Given the description of an element on the screen output the (x, y) to click on. 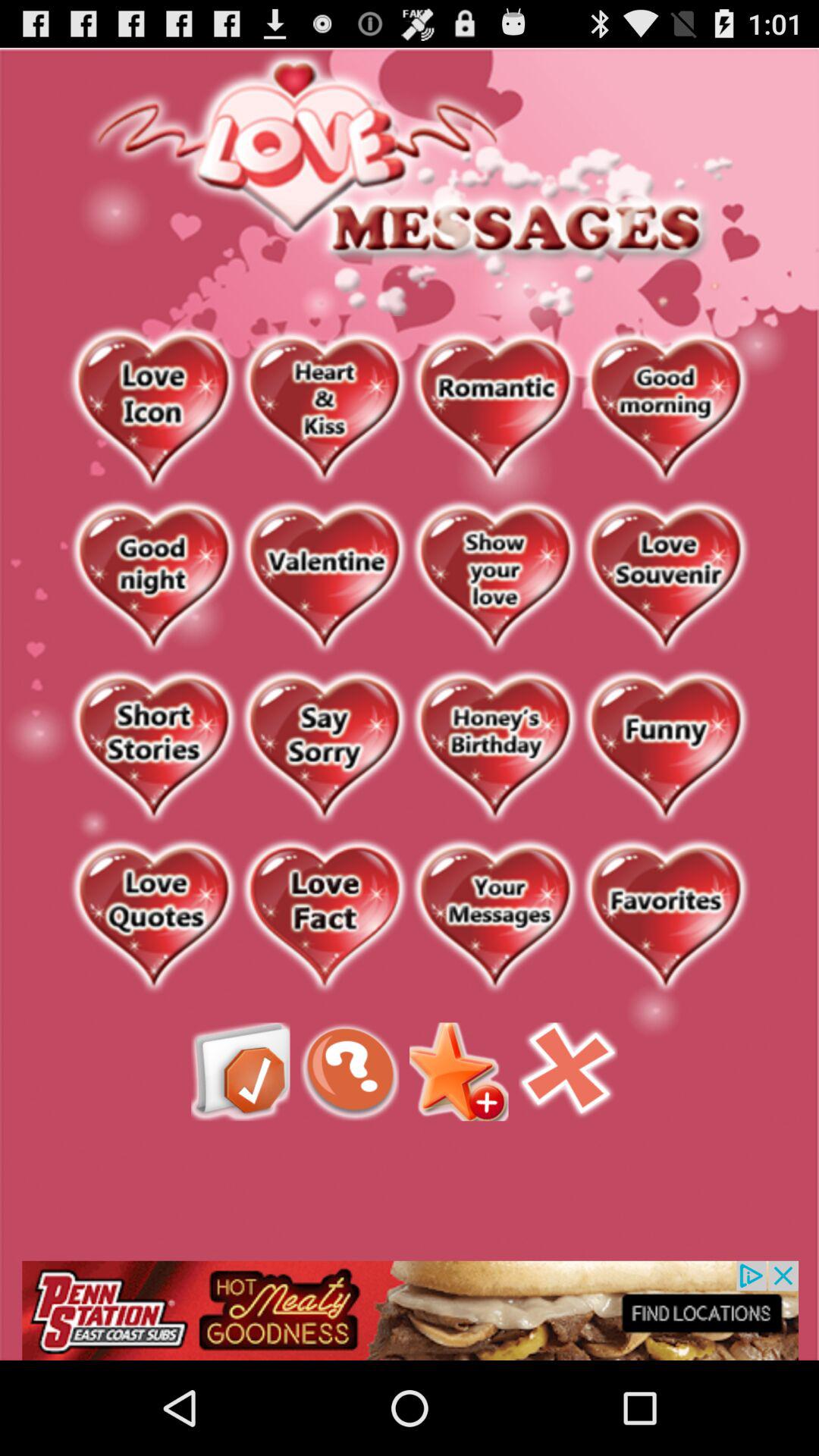
advertisement bar (409, 1310)
